Given the description of an element on the screen output the (x, y) to click on. 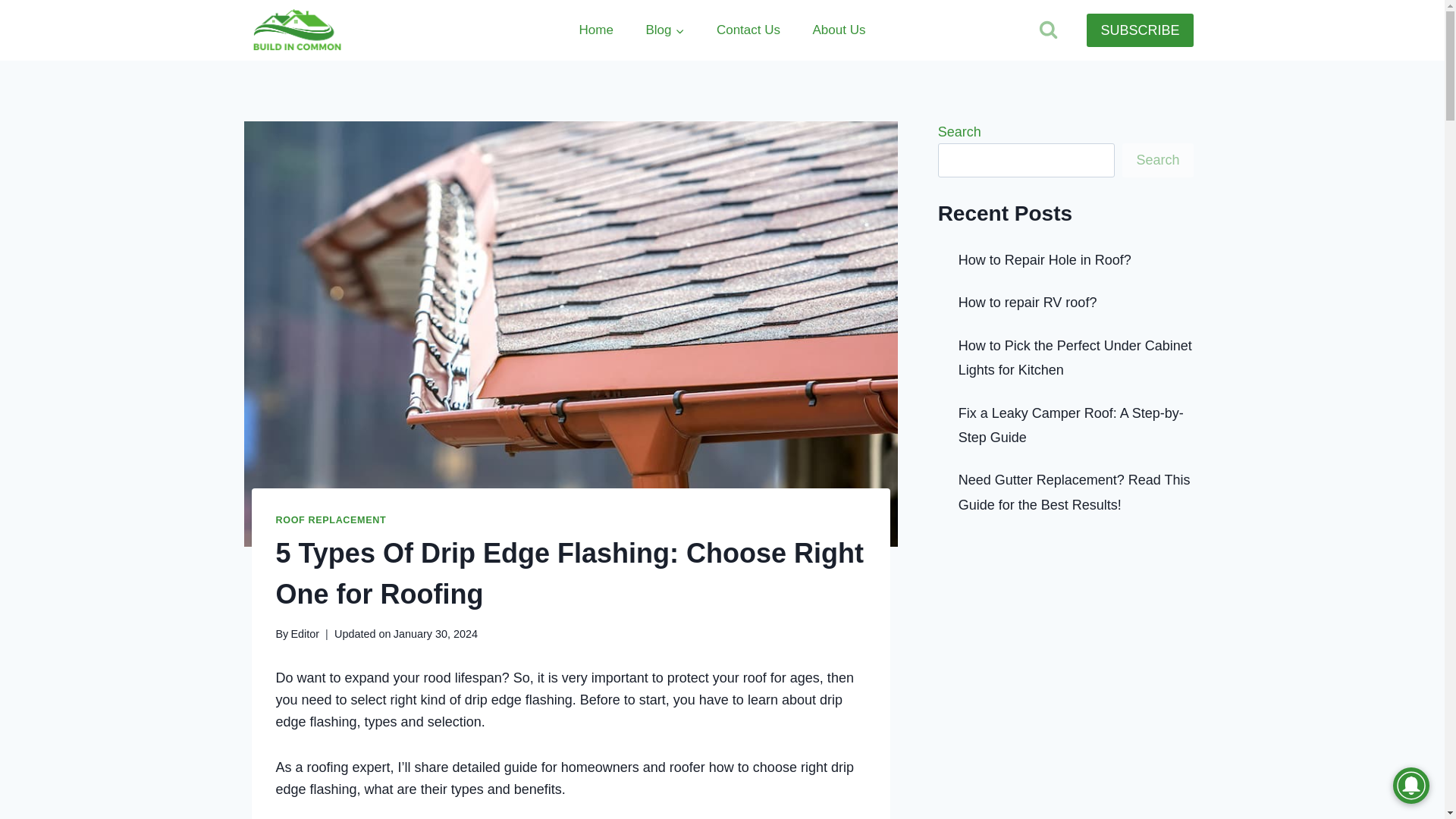
Blog (664, 30)
Editor (303, 633)
About Us (838, 30)
SUBSCRIBE (1139, 29)
ROOF REPLACEMENT (331, 520)
Home (595, 30)
Contact Us (748, 30)
